Given the description of an element on the screen output the (x, y) to click on. 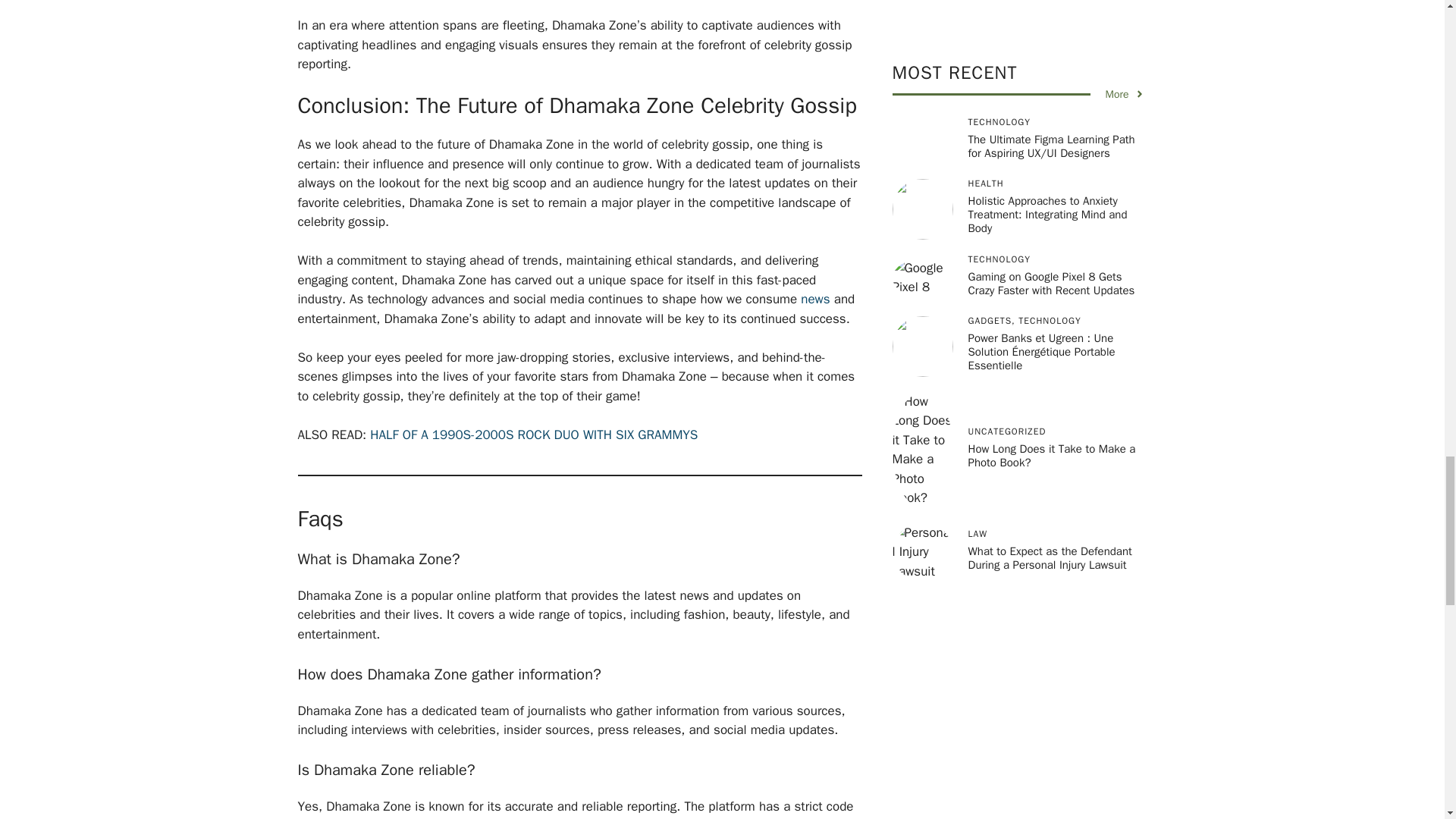
news (814, 299)
HALF OF A 1990S-2000S ROCK DUO WITH SIX GRAMMYS (533, 434)
